Given the description of an element on the screen output the (x, y) to click on. 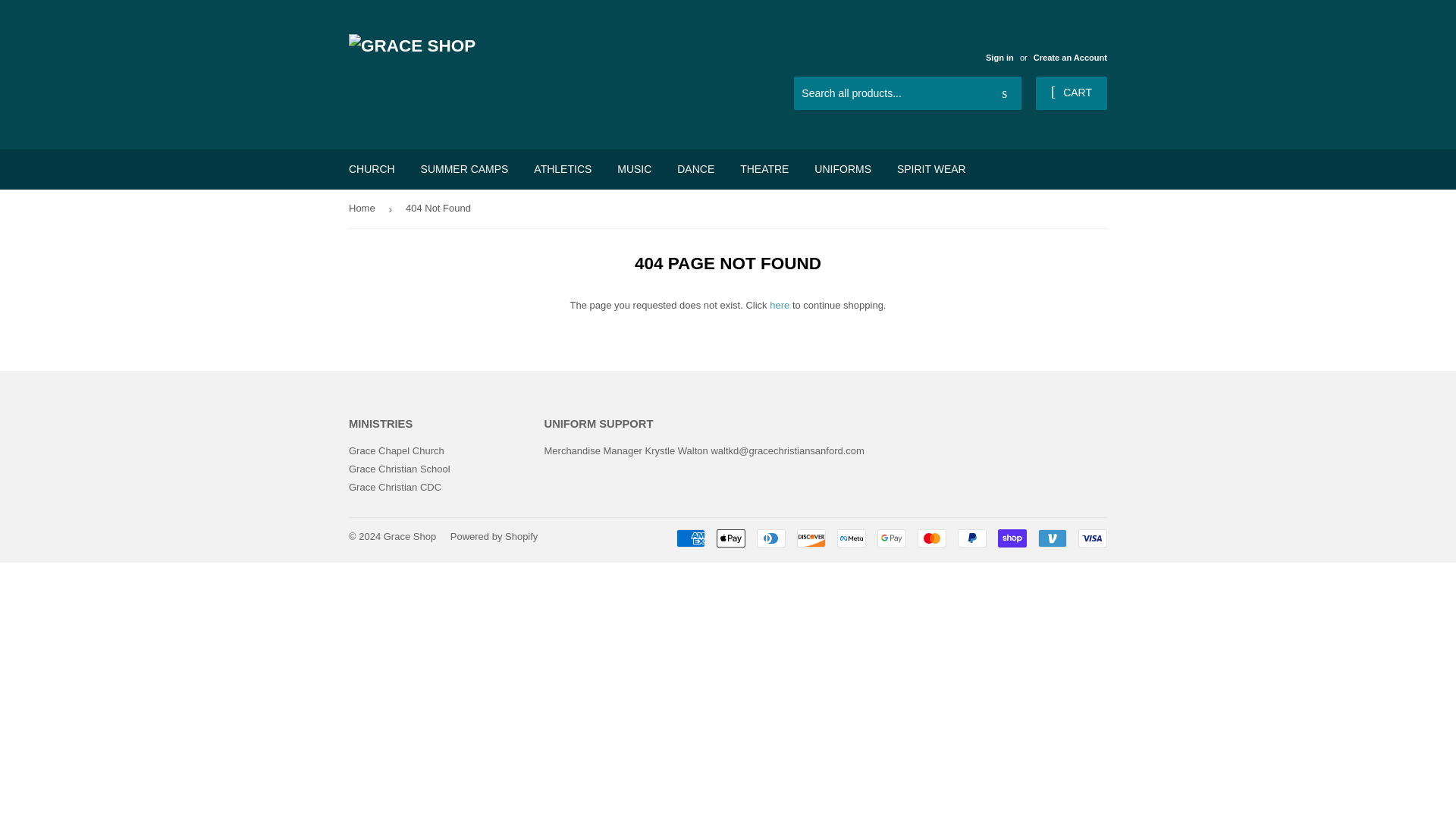
Grace Chapel Church (396, 450)
Mastercard (931, 538)
Grace Christian School (399, 469)
Create an Account (1069, 57)
Visa (1092, 538)
Shop Pay (1011, 538)
PayPal (972, 538)
Search (1004, 93)
Grace Shop (409, 536)
Discover (810, 538)
Venmo (1052, 538)
Google Pay (891, 538)
ATHLETICS (562, 169)
here (779, 305)
Apple Pay (730, 538)
